Given the description of an element on the screen output the (x, y) to click on. 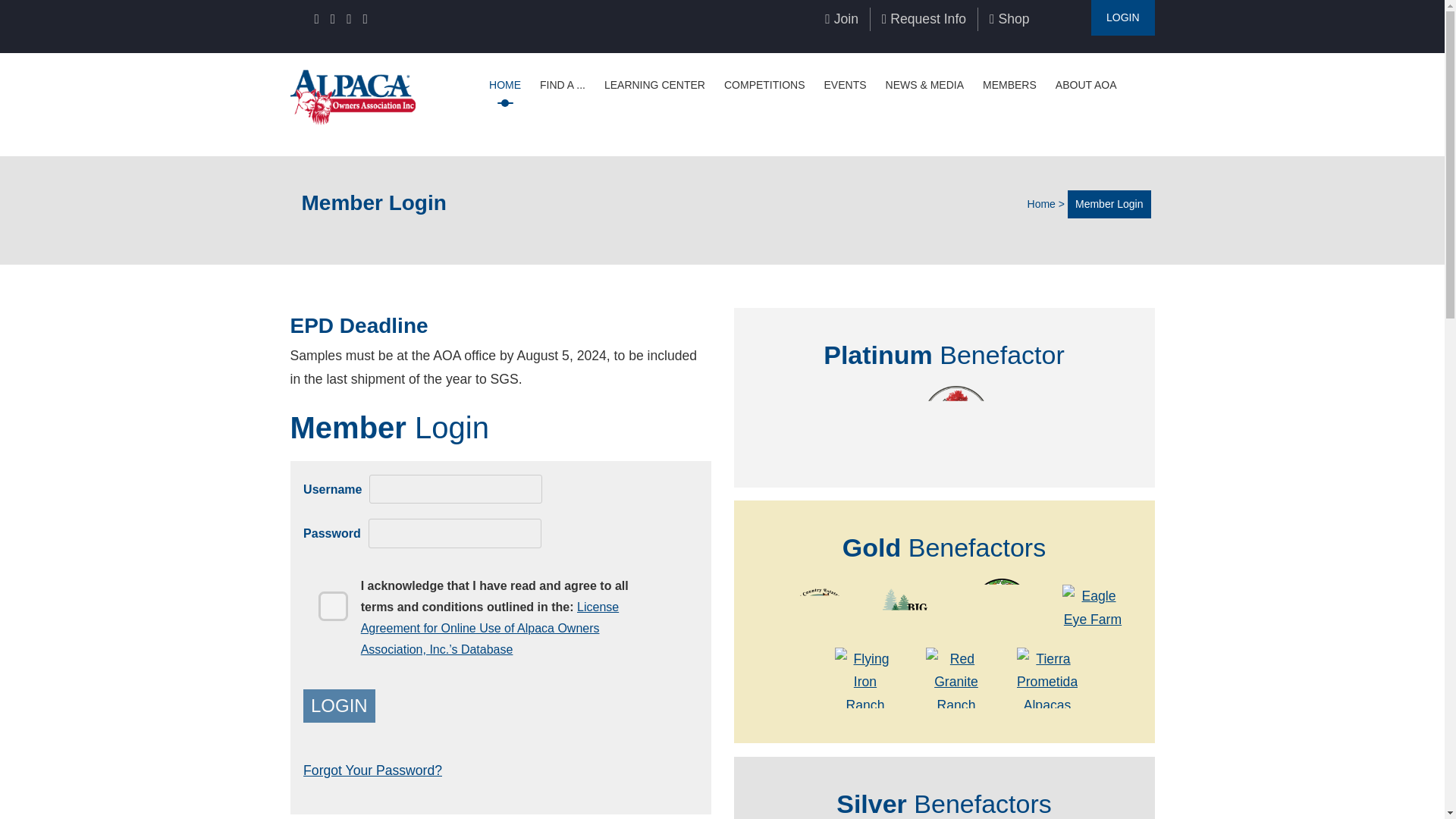
Instagram (348, 19)
Member Dashboard (1122, 18)
Request Information on Alpacas (924, 18)
Alpaca Owners Association, Inc. (351, 95)
Request Info (924, 18)
Linkedin (332, 19)
Facebook (316, 19)
LOGIN (1122, 18)
Join (842, 18)
accepteula (323, 596)
YouTube (364, 19)
Shop (1009, 18)
Join Alpaca Owners Association (842, 18)
Login (338, 705)
